Given the description of an element on the screen output the (x, y) to click on. 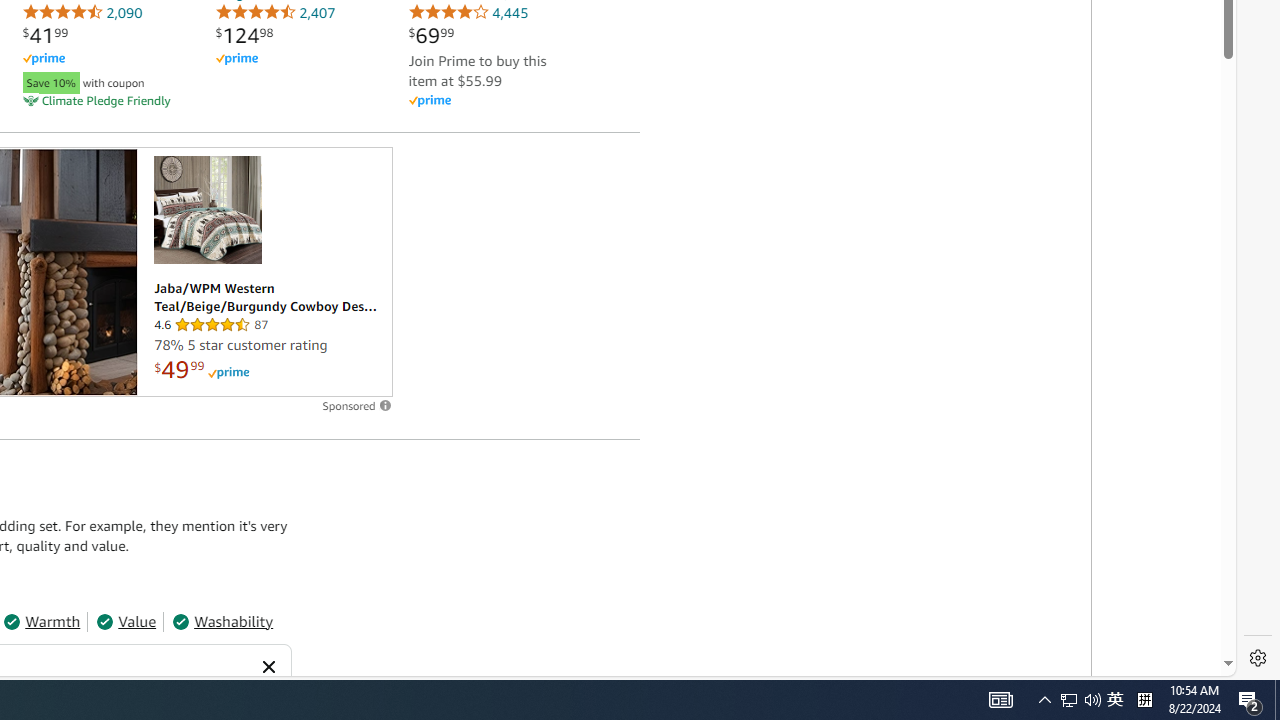
Washability (222, 621)
Save 10% with coupon (102, 79)
$41.99 (45, 35)
